Given the description of an element on the screen output the (x, y) to click on. 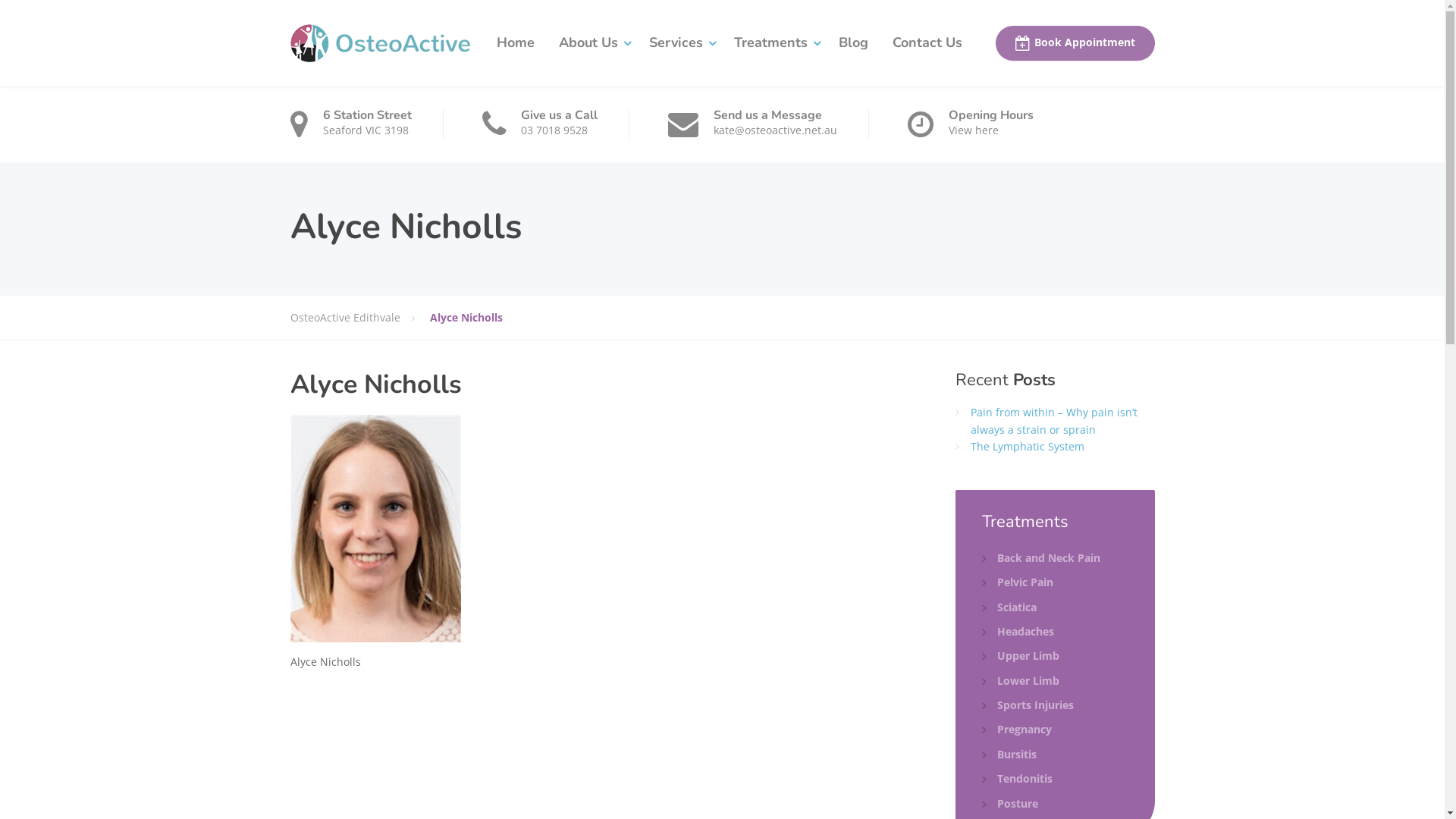
Book Appointment Element type: text (1074, 42)
OsteoActive Edithvale Element type: hover (379, 42)
Treatments Element type: text (774, 43)
OsteoActive Edithvale Element type: text (359, 317)
Blog Element type: text (853, 43)
Services Element type: text (679, 43)
Lower Limb Element type: text (1020, 680)
The Lymphatic System Element type: text (1027, 446)
Bursitis Element type: text (1009, 754)
Tendonitis Element type: text (1017, 778)
Contact Us Element type: text (926, 43)
Sciatica Element type: text (1009, 607)
Posture Element type: text (1010, 803)
Headaches Element type: text (1018, 631)
Home Element type: text (514, 43)
Upper Limb Element type: text (1020, 655)
Back and Neck Pain Element type: text (1041, 557)
Pregnancy Element type: text (1016, 729)
About Us Element type: text (590, 43)
Sports Injuries Element type: text (1027, 704)
Pelvic Pain Element type: text (1017, 582)
